Given the description of an element on the screen output the (x, y) to click on. 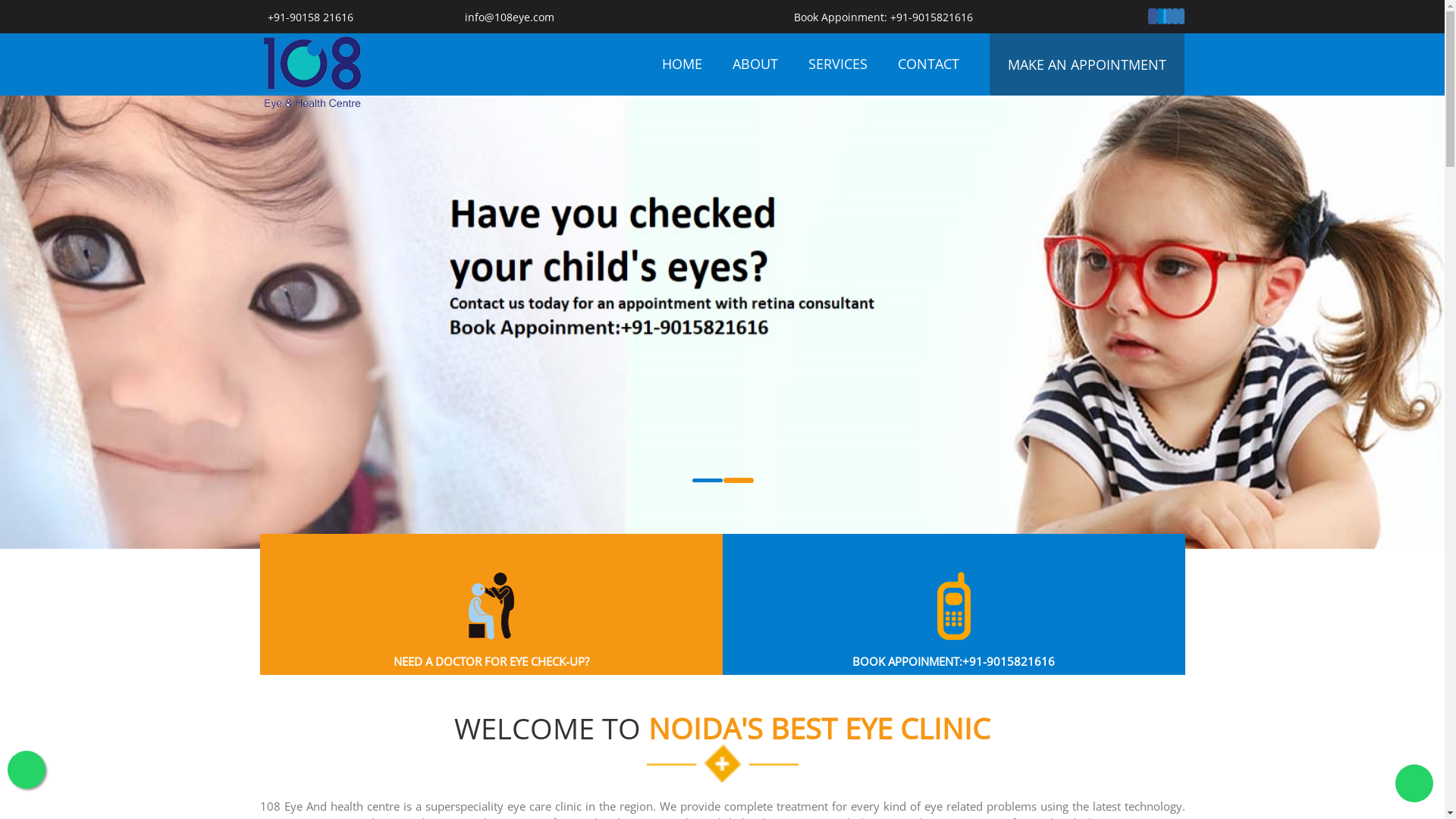
+91-90158 21616 Element type: text (309, 16)
CONTACT Element type: text (928, 63)
ABOUT Element type: text (755, 63)
HOME Element type: text (682, 63)
+91-9015821616 Element type: text (929, 16)
MAKE AN APPOINTMENT Element type: text (1086, 64)
SERVICES Element type: text (837, 63)
